Given the description of an element on the screen output the (x, y) to click on. 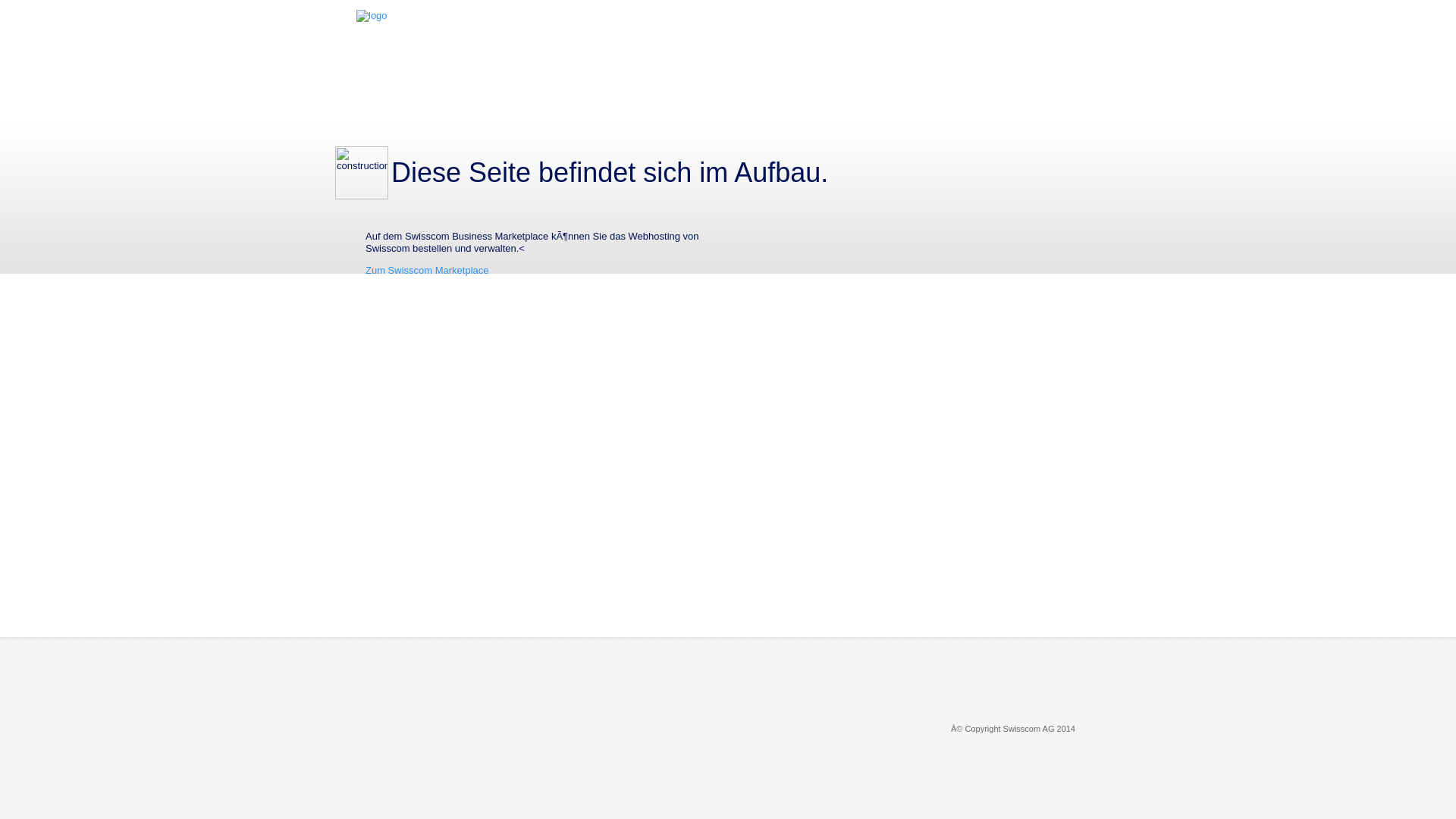
Zum Swisscom Marketplace Element type: text (427, 270)
